Given the description of an element on the screen output the (x, y) to click on. 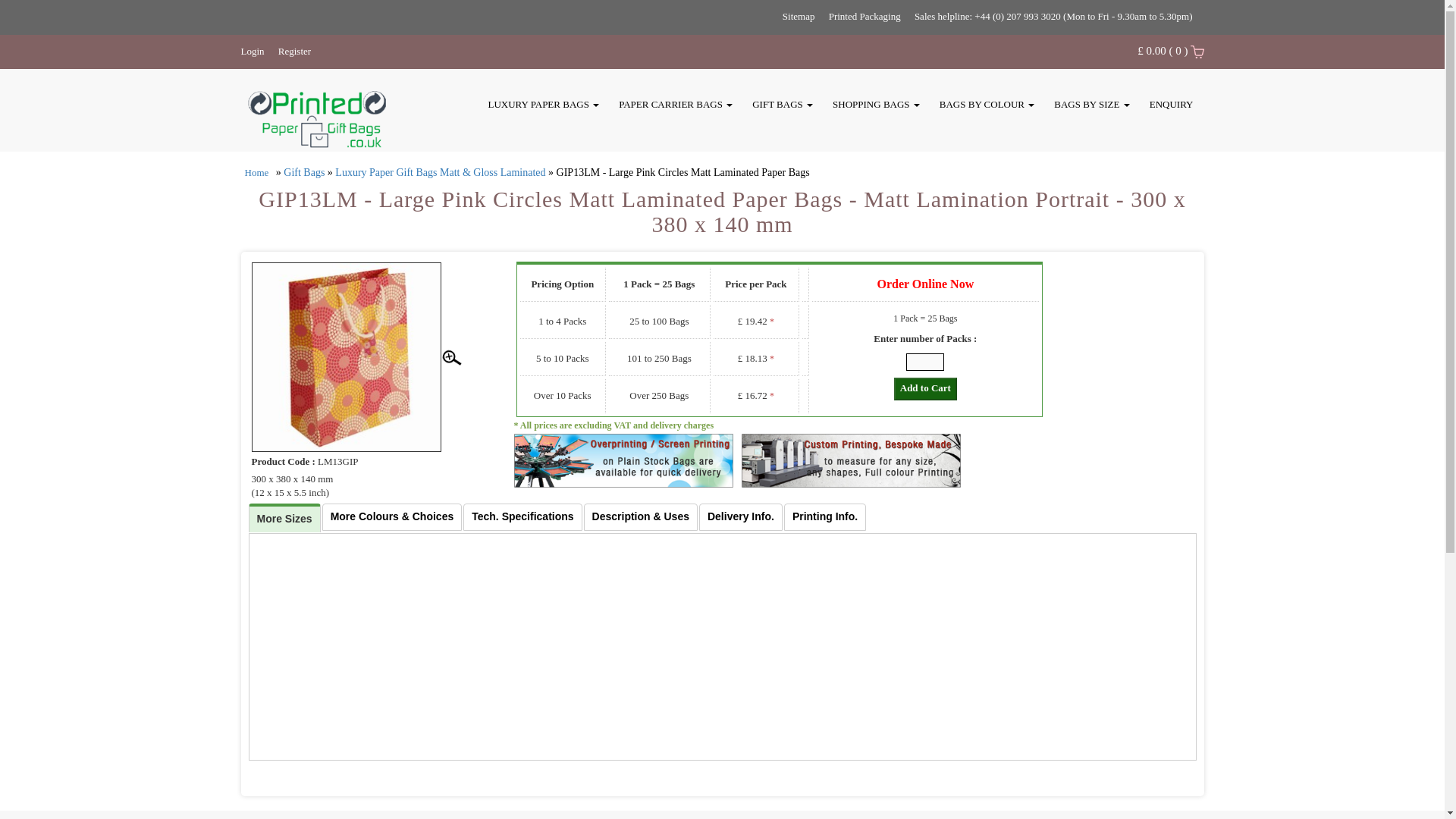
Login (252, 50)
GIFT BAGS (781, 104)
Sitemap (799, 16)
Register (294, 50)
PAPER CARRIER BAGS (675, 104)
SHOPPING BAGS (876, 104)
Go to Home Page (255, 172)
LUXURY PAPER BAGS (543, 104)
BAGS BY COLOUR (987, 104)
Add to Cart (924, 388)
Printed Packaging (864, 16)
